Given the description of an element on the screen output the (x, y) to click on. 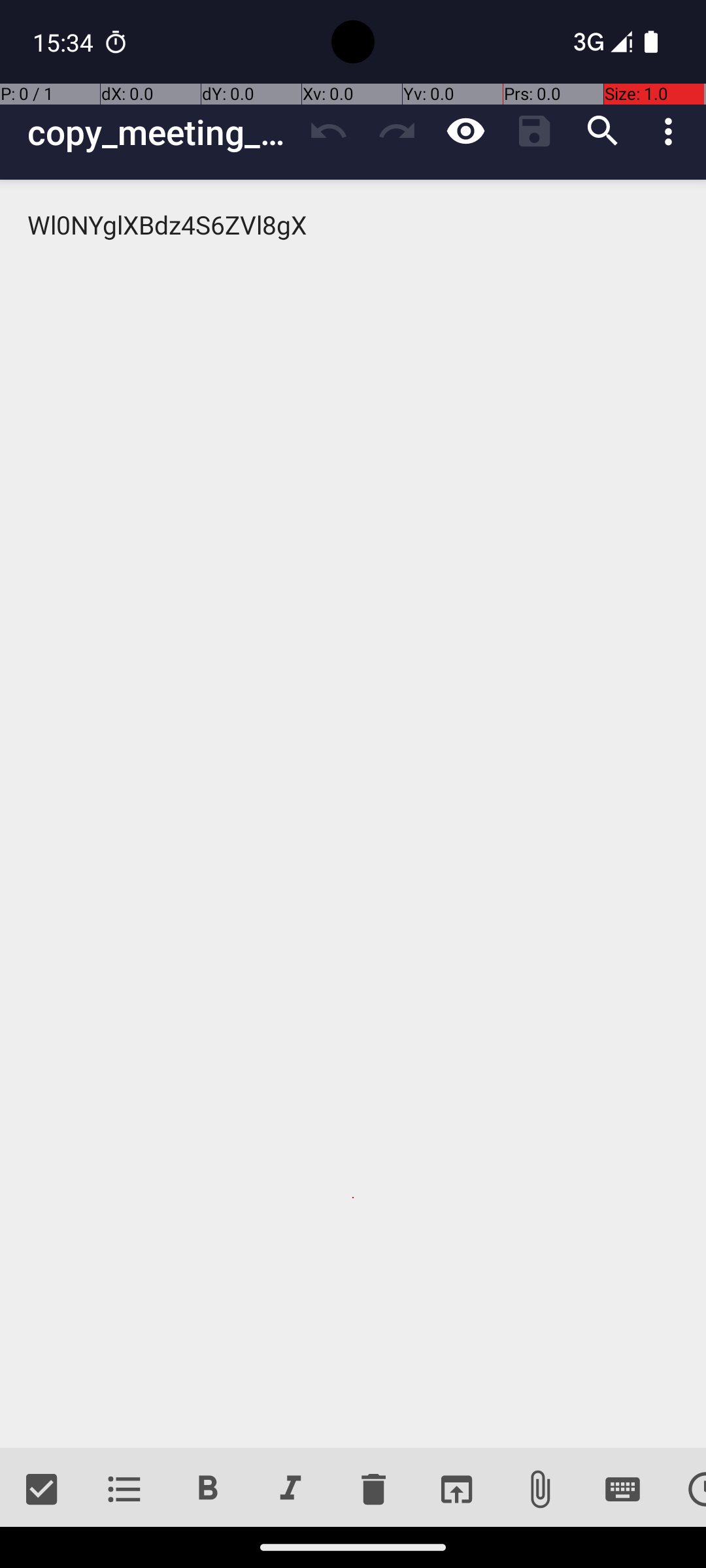
copy_meeting_notes_project_team Element type: android.widget.TextView (160, 131)
Wl0NYglXBdz4S6ZVl8gX
 Element type: android.widget.EditText (353, 813)
